Given the description of an element on the screen output the (x, y) to click on. 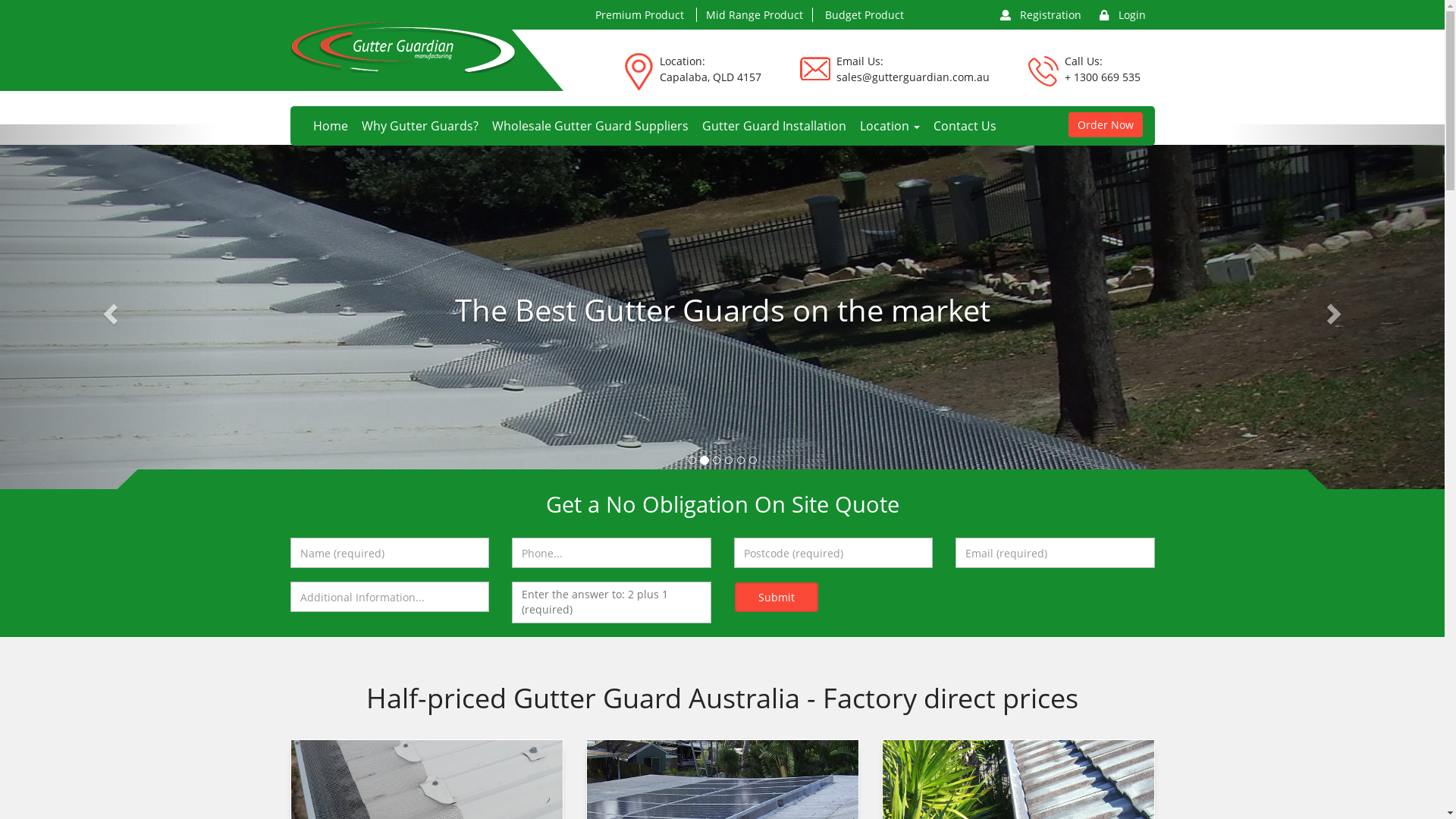
  Registration Element type: text (1040, 14)
Budget Product Element type: text (864, 14)
Mid Range Product Element type: text (753, 14)
Location Element type: text (888, 125)
Location:
Capalaba, QLD 4157 Element type: text (710, 73)
Order Now Element type: text (1104, 124)
Why Gutter Guards? Element type: text (419, 125)
Call Us:
+ 1300 669 535 Element type: text (1102, 73)
Gutter Guard Installation Element type: text (773, 125)
Submit Element type: text (775, 596)
Home Element type: text (330, 125)
Premium Product Element type: text (638, 14)
Next Element type: text (1335, 308)
Wholesale Gutter Guard Suppliers Element type: text (590, 125)
Contact Us Element type: text (961, 125)
  Login Element type: text (1122, 14)
Previous Element type: text (108, 308)
Email Us:
sales@gutterguardian.com.au Element type: text (911, 73)
